Given the description of an element on the screen output the (x, y) to click on. 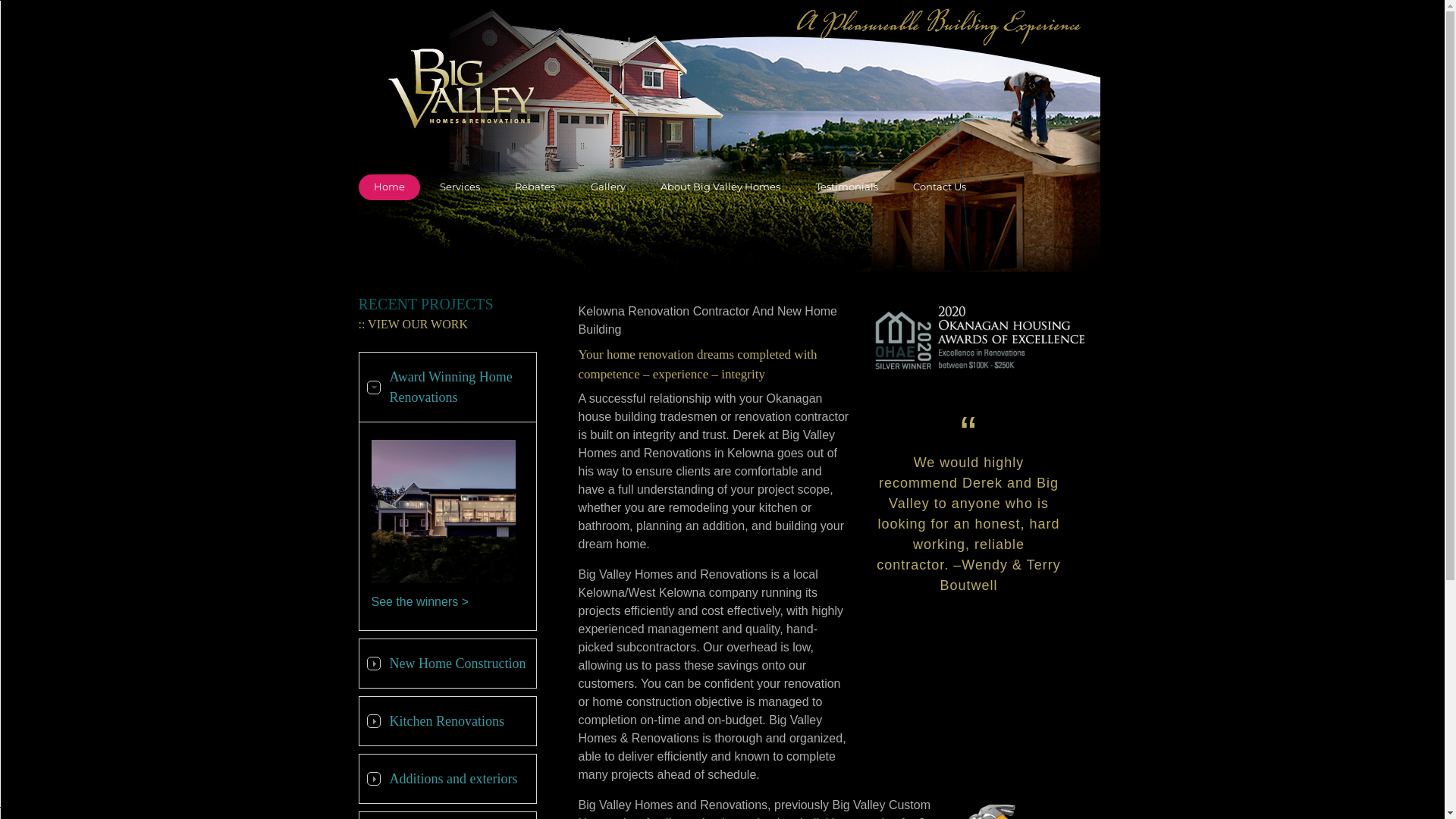
Testimonials Element type: text (846, 187)
About Big Valley Homes Element type: text (720, 187)
Contact Us Element type: text (939, 187)
Award Winning Home Renovations Element type: text (447, 387)
Home Element type: text (388, 187)
See the winners > Element type: text (420, 601)
Services Element type: text (459, 187)
Kitchen Renovations Element type: text (447, 721)
Additions and exteriors Element type: text (447, 779)
Gallery Element type: text (607, 187)
Rebates Element type: text (534, 187)
New Home Construction Element type: text (447, 663)
